Given the description of an element on the screen output the (x, y) to click on. 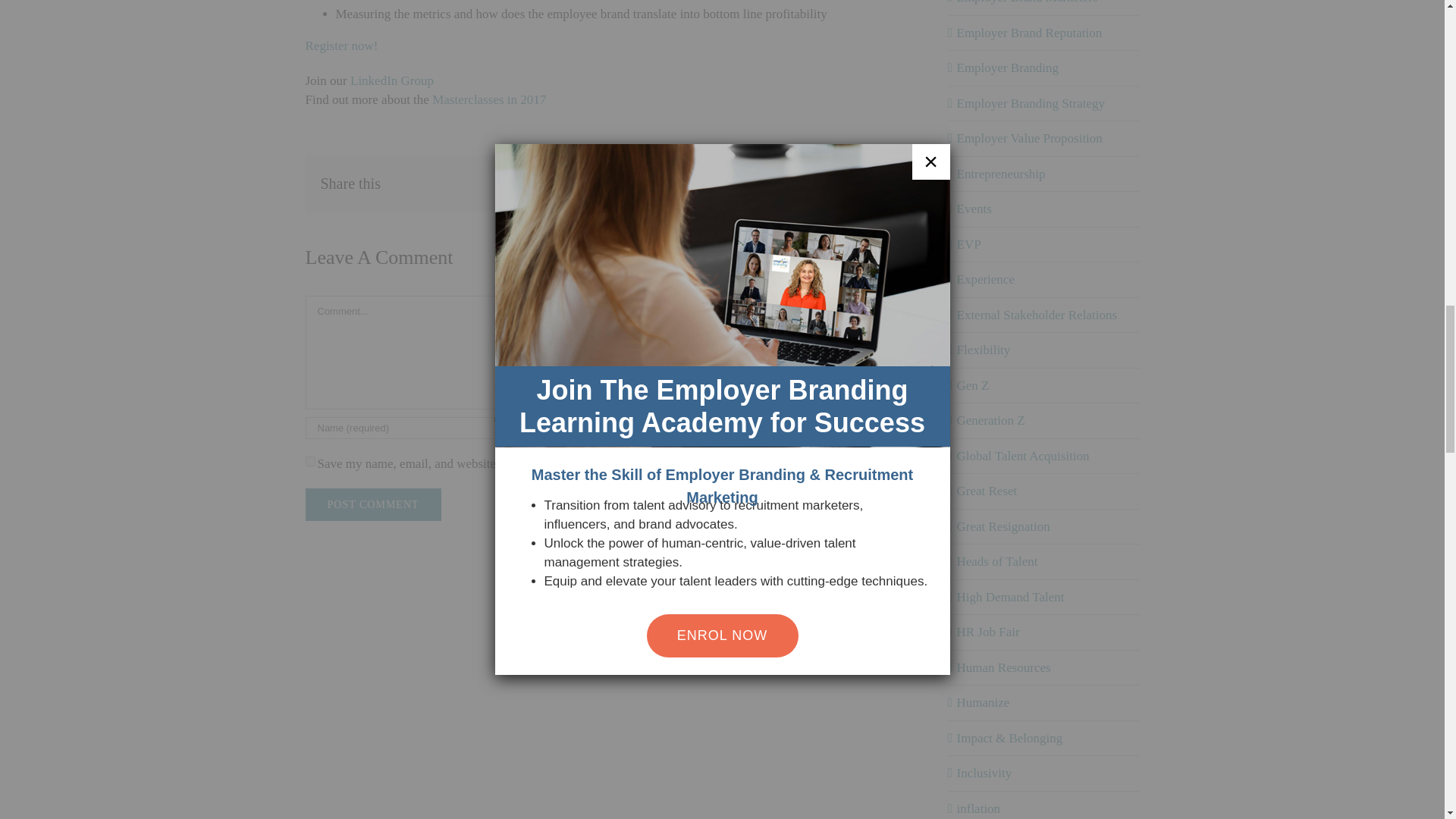
Post Comment (372, 504)
yes (309, 461)
